Given the description of an element on the screen output the (x, y) to click on. 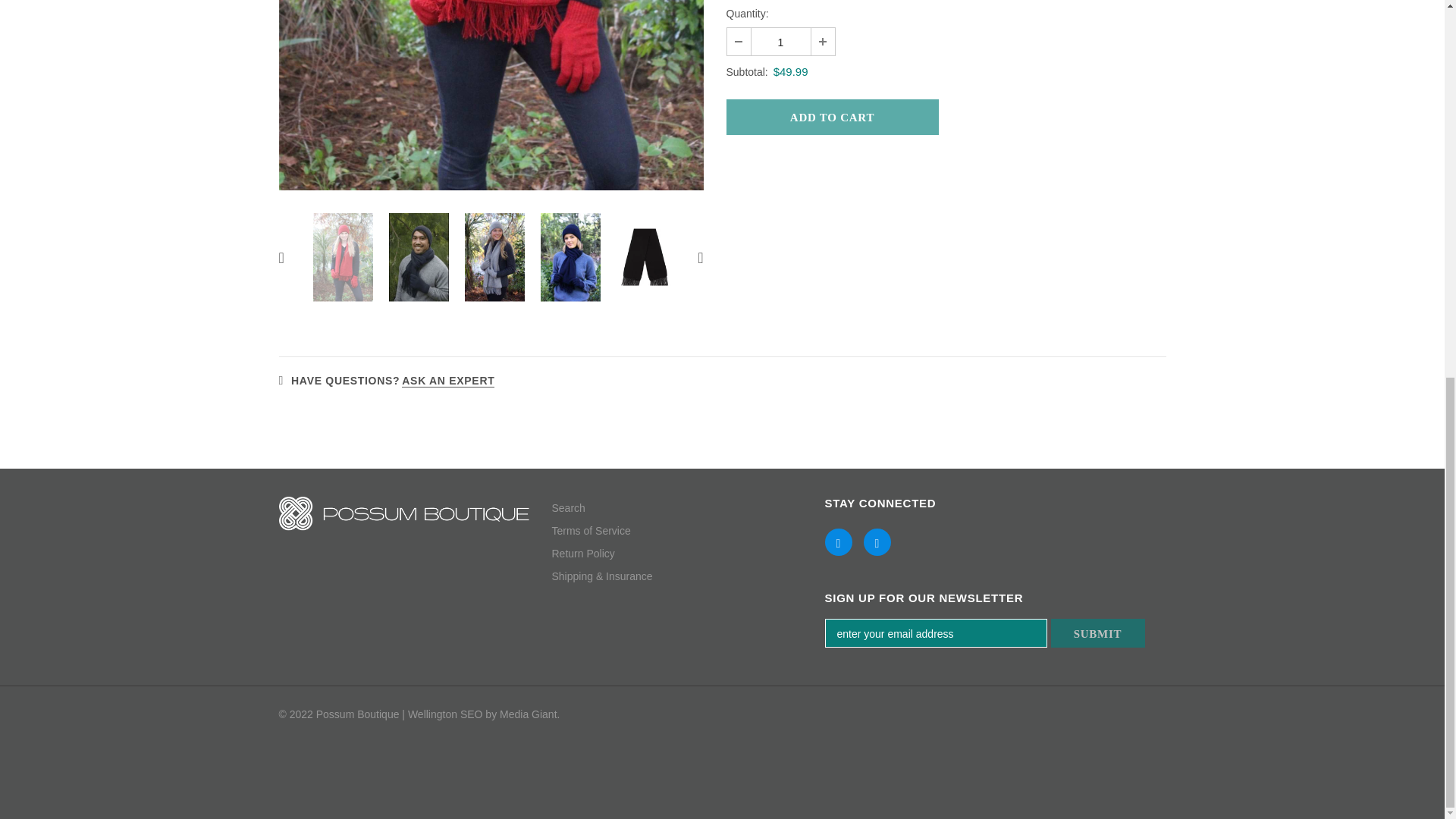
Ask An Expert (448, 380)
Submit (1097, 633)
Add to cart (832, 117)
1 (780, 41)
